Given the description of an element on the screen output the (x, y) to click on. 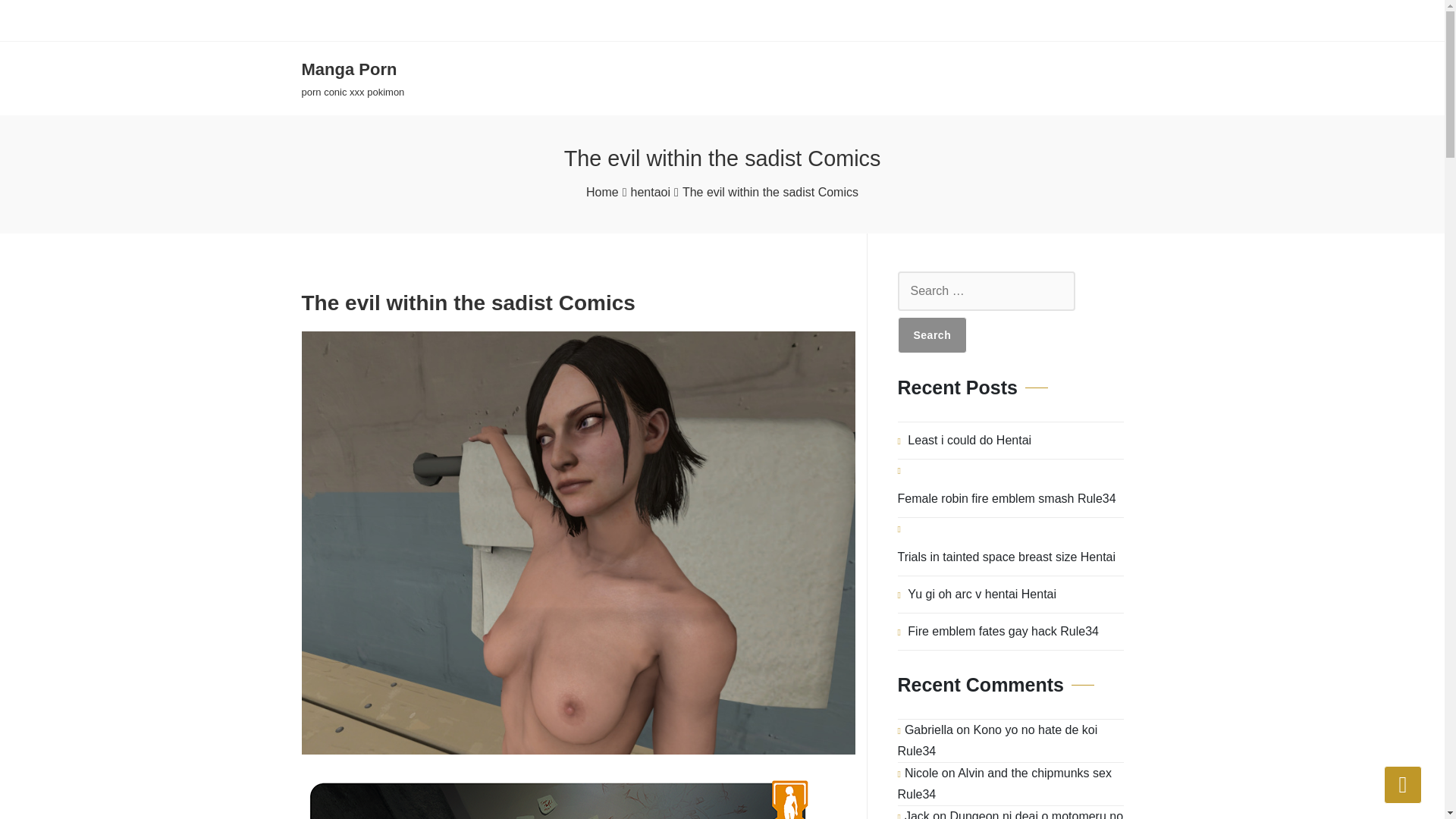
Home (602, 192)
Alvin and the chipmunks sex Rule34 (1005, 783)
Fire emblem fates gay hack Rule34 (1003, 631)
Yu gi oh arc v hentai Hentai (982, 594)
Back To Top (1403, 784)
Least i could do Hentai (968, 440)
hentaoi (650, 192)
Trials in tainted space breast size Hentai (1007, 556)
Kono yo no hate de koi Rule34 (997, 740)
